Given the description of an element on the screen output the (x, y) to click on. 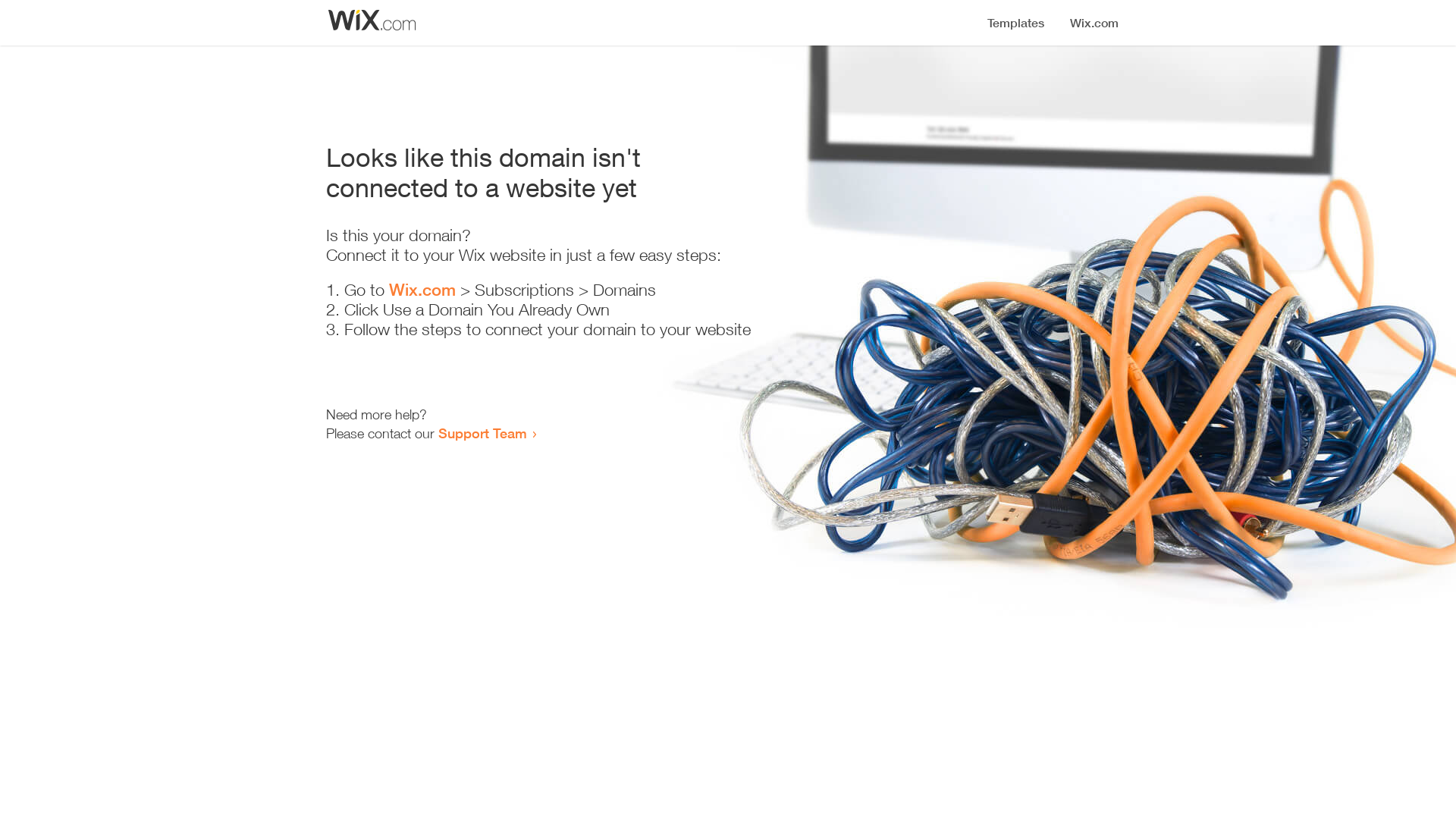
Wix.com Element type: text (422, 289)
Support Team Element type: text (482, 432)
